Given the description of an element on the screen output the (x, y) to click on. 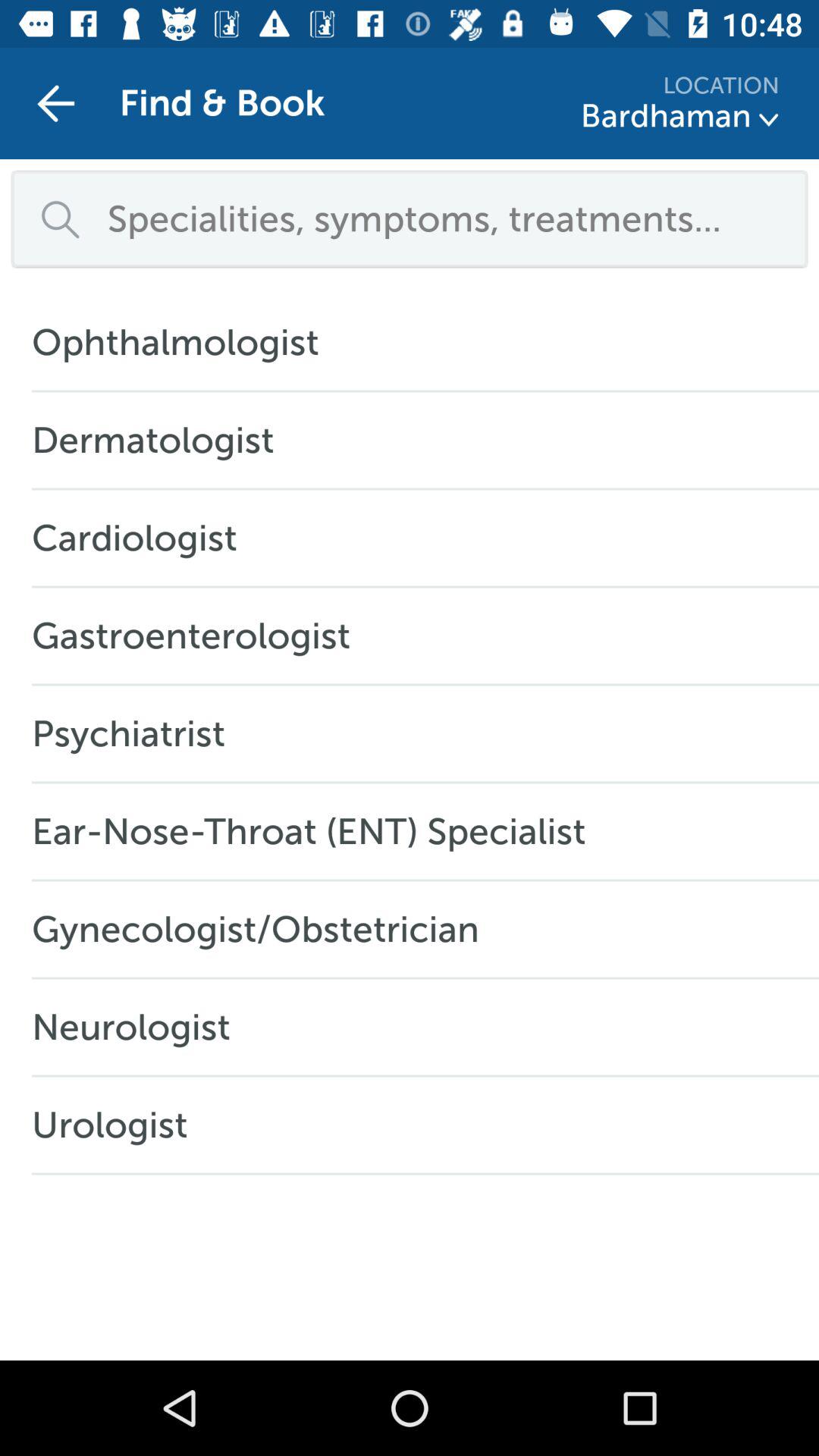
jump to the urologist item (117, 1124)
